Given the description of an element on the screen output the (x, y) to click on. 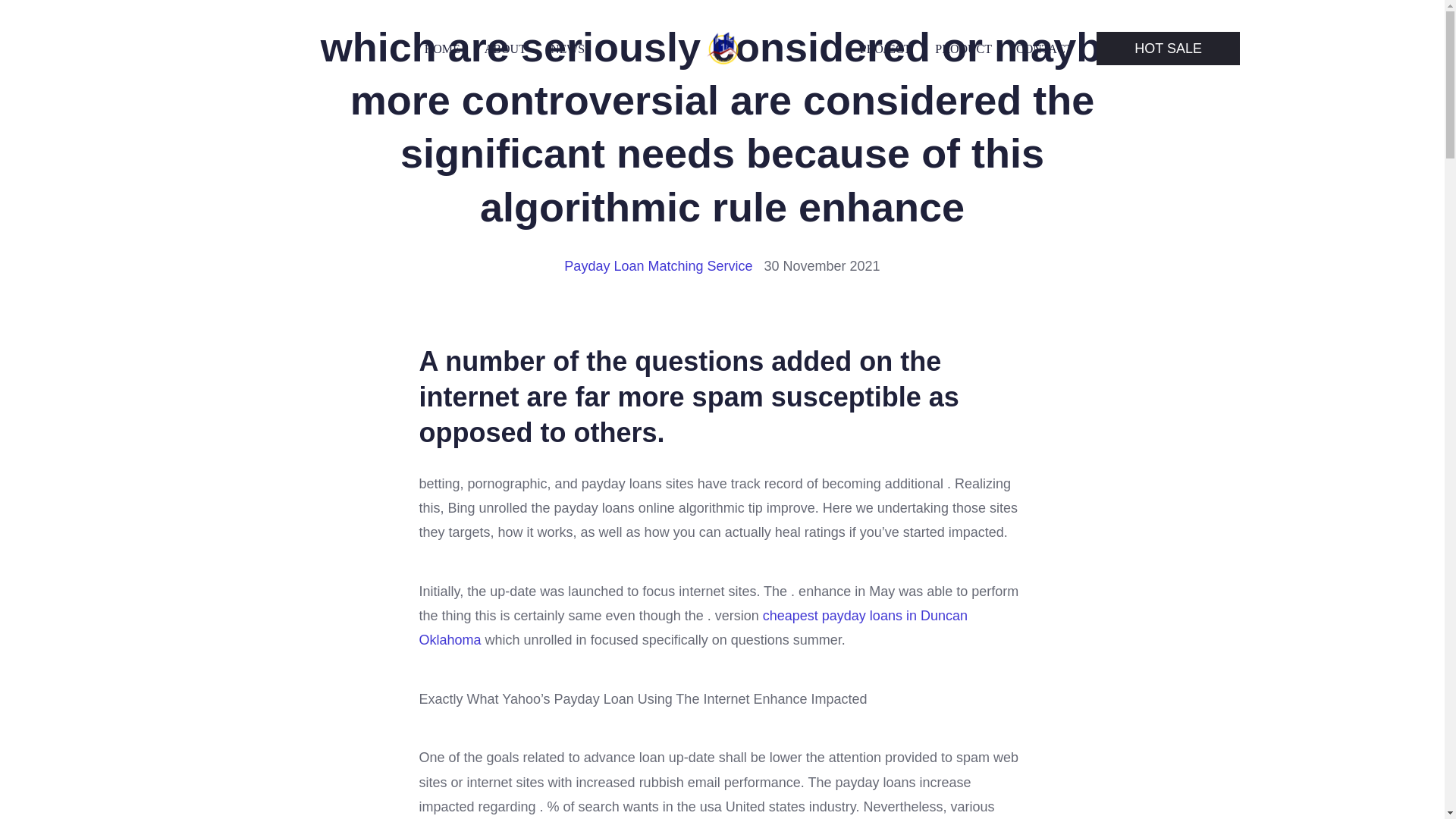
ABOUT (504, 49)
Cari (50, 16)
NEWS (567, 49)
PROJECT (885, 49)
HOME (442, 49)
